Given the description of an element on the screen output the (x, y) to click on. 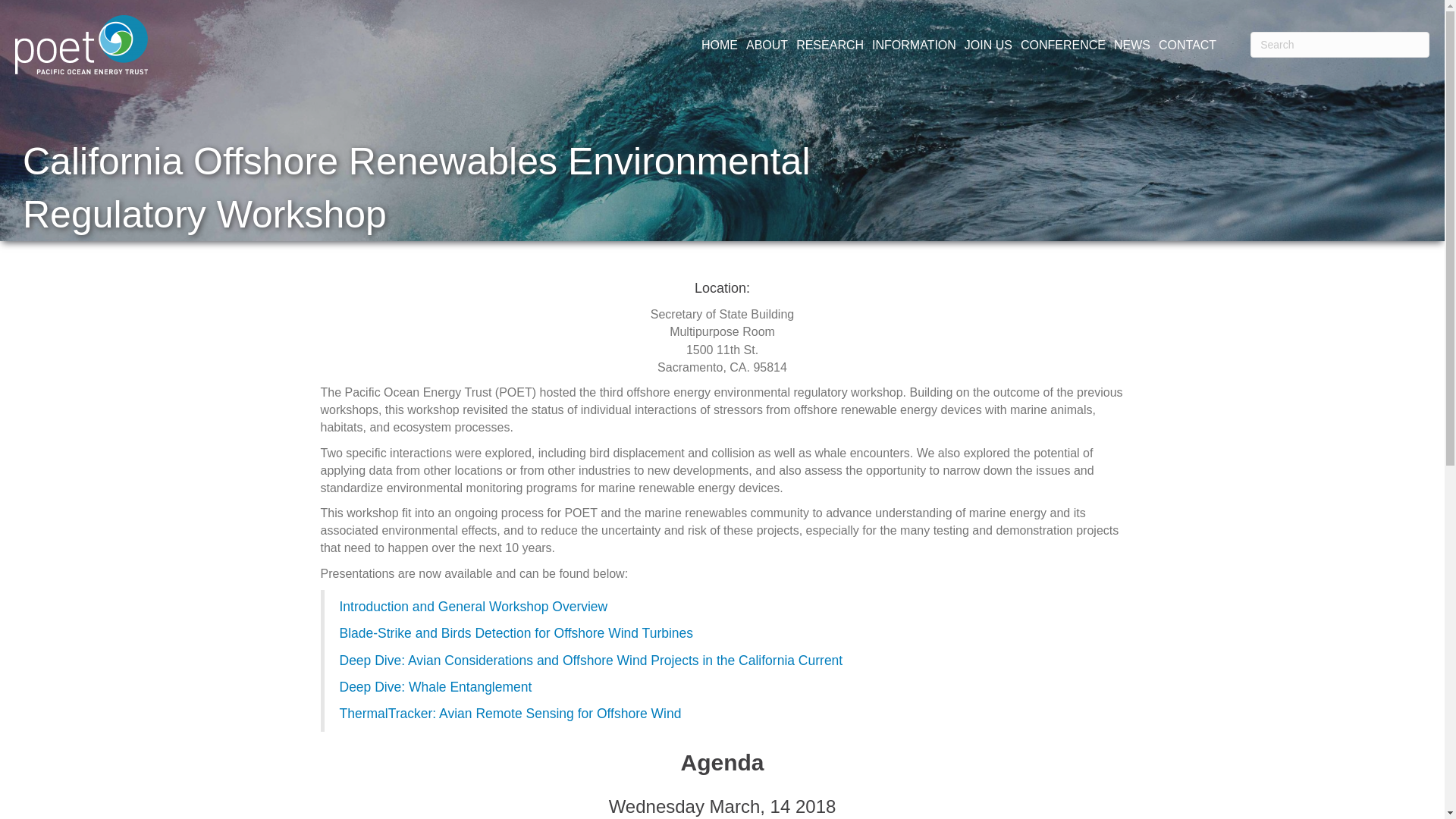
ABOUT (767, 44)
RESEARCH (829, 44)
Deep Dive: Whale Entanglement (435, 686)
POET Logo3 (81, 44)
ThermalTracker: Avian Remote Sensing for Offshore Wind (510, 713)
NEWS (1131, 44)
JOIN US (988, 44)
CONFERENCE (1062, 44)
Introduction and General Workshop Overview (473, 606)
